Given the description of an element on the screen output the (x, y) to click on. 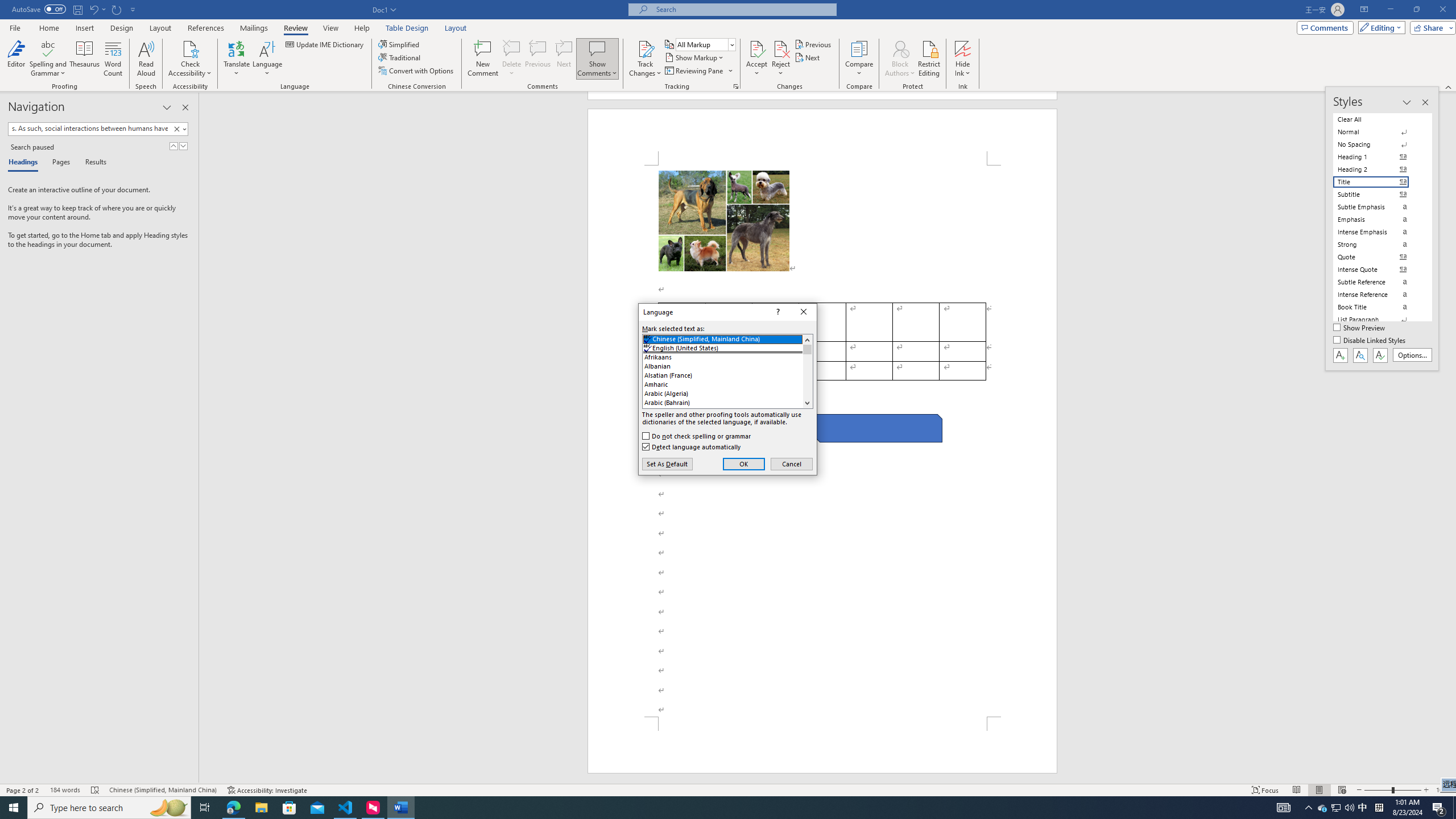
Traditional (400, 56)
Show Comments (597, 58)
Clear (176, 128)
Context help (777, 312)
Normal (1377, 131)
Options... (1412, 354)
Detect language automatically (692, 446)
